Given the description of an element on the screen output the (x, y) to click on. 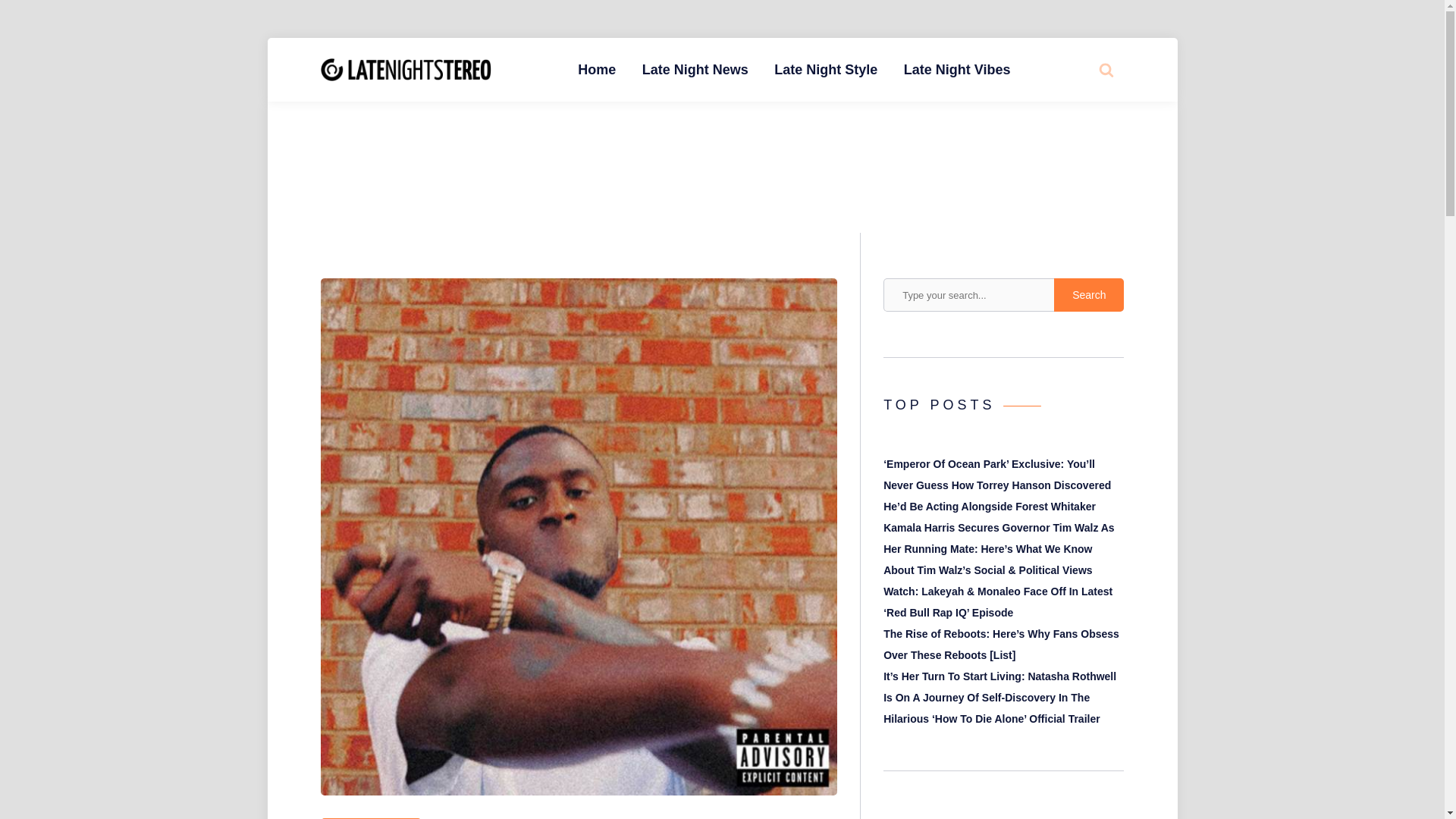
Search (1074, 127)
Late Night Vibes (957, 69)
Late Night Style (825, 69)
LATE NIGHT STEREO (606, 81)
Home (596, 69)
Search (1089, 295)
Search (1089, 295)
Late Night News (695, 69)
